Given the description of an element on the screen output the (x, y) to click on. 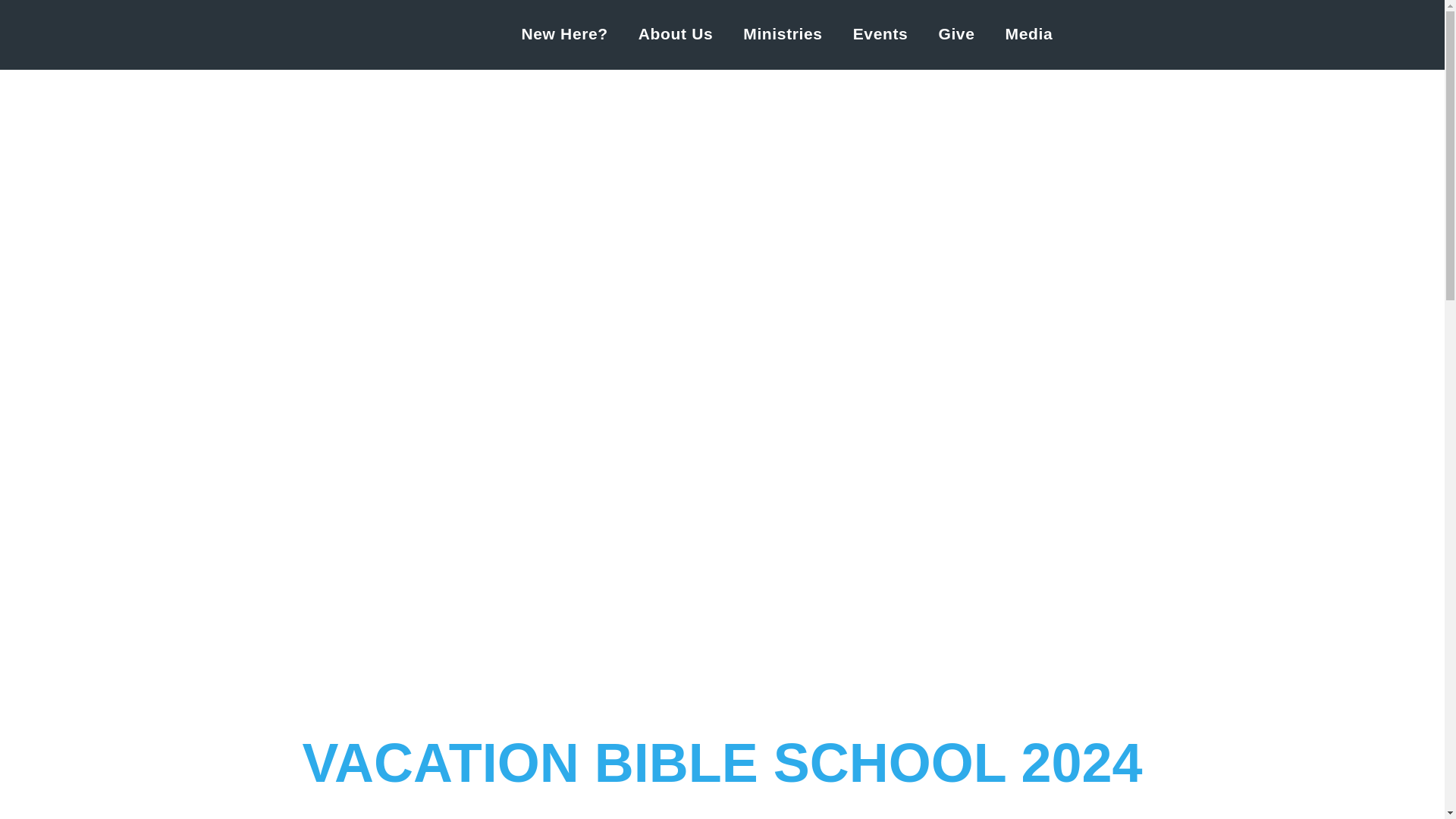
Media (1029, 34)
Ministries (782, 34)
Give (956, 34)
About Us (675, 34)
New Here? (564, 34)
Events (880, 34)
